Given the description of an element on the screen output the (x, y) to click on. 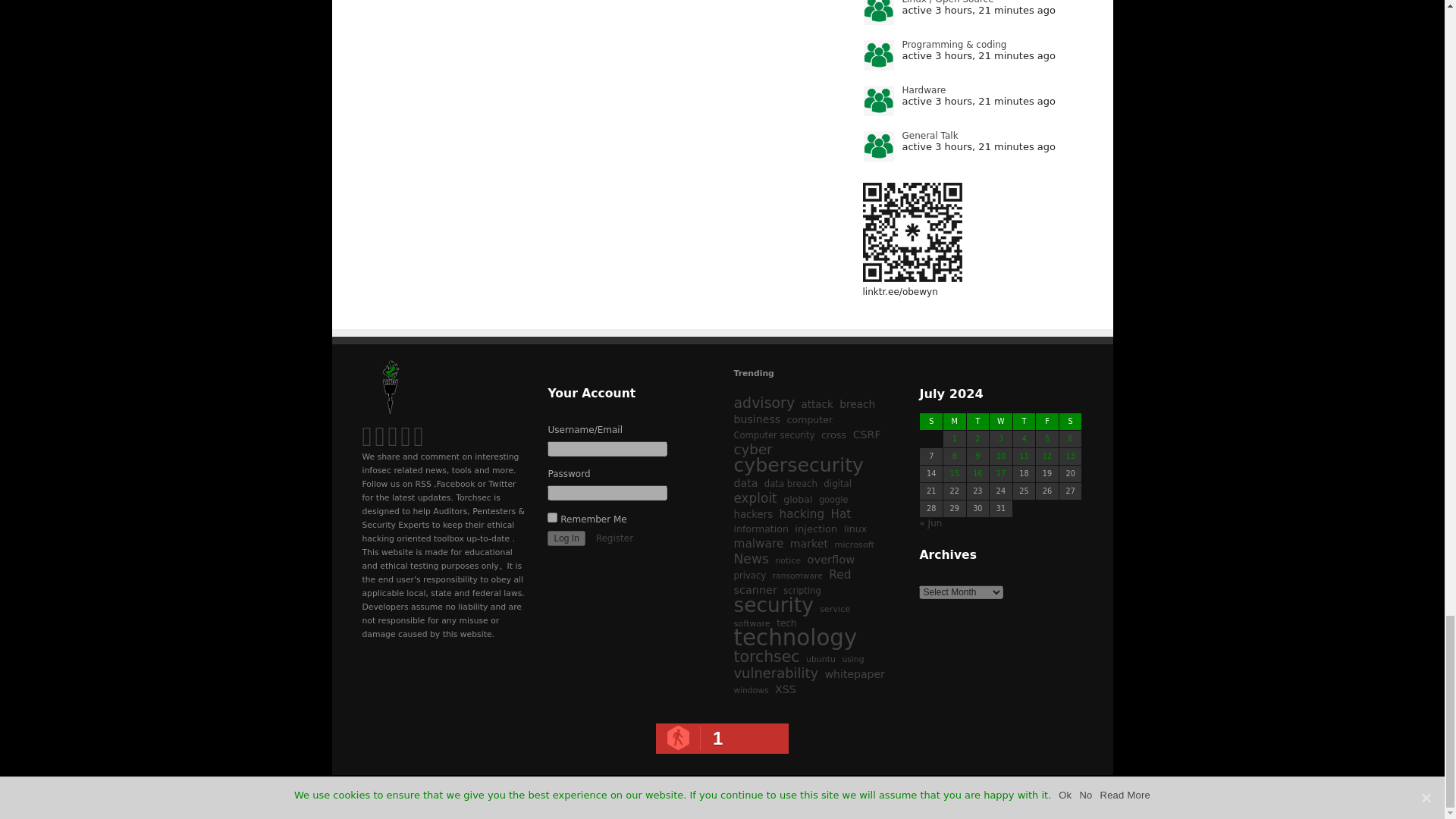
Log In (566, 538)
forever (552, 517)
